Given the description of an element on the screen output the (x, y) to click on. 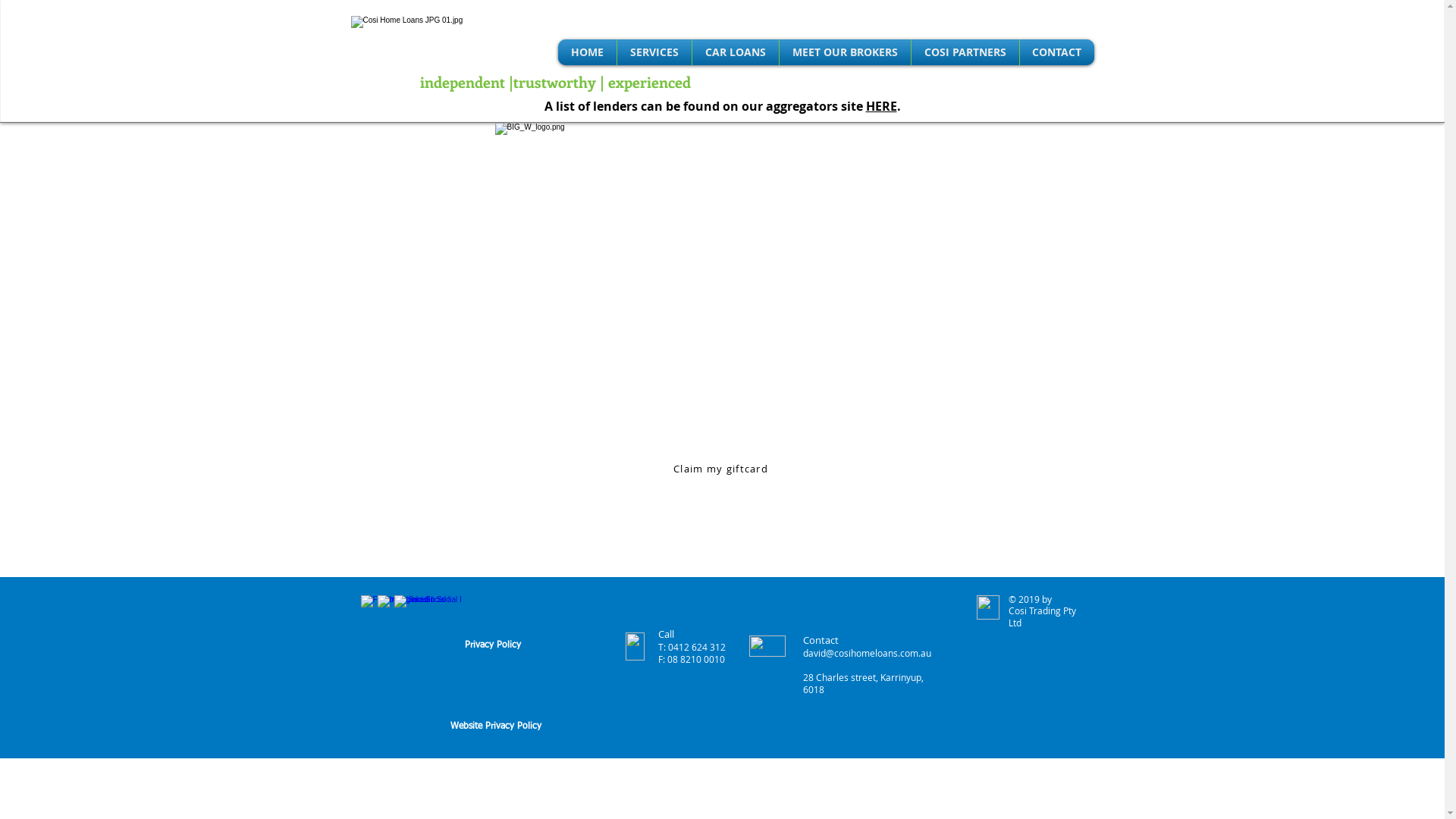
COSI PARTNERS Element type: text (964, 52)
CAR LOANS Element type: text (735, 52)
HOME Element type: text (586, 52)
Claim my giftcard Element type: text (722, 468)
SERVICES Element type: text (653, 52)
MEET OUR BROKERS Element type: text (844, 52)
HERE Element type: text (881, 105)
david@cosihomeloans.com.au Element type: text (866, 652)
CONTACT Element type: text (1056, 52)
Privacy Policy Element type: text (493, 645)
Website Privacy Policy Element type: text (495, 726)
